Given the description of an element on the screen output the (x, y) to click on. 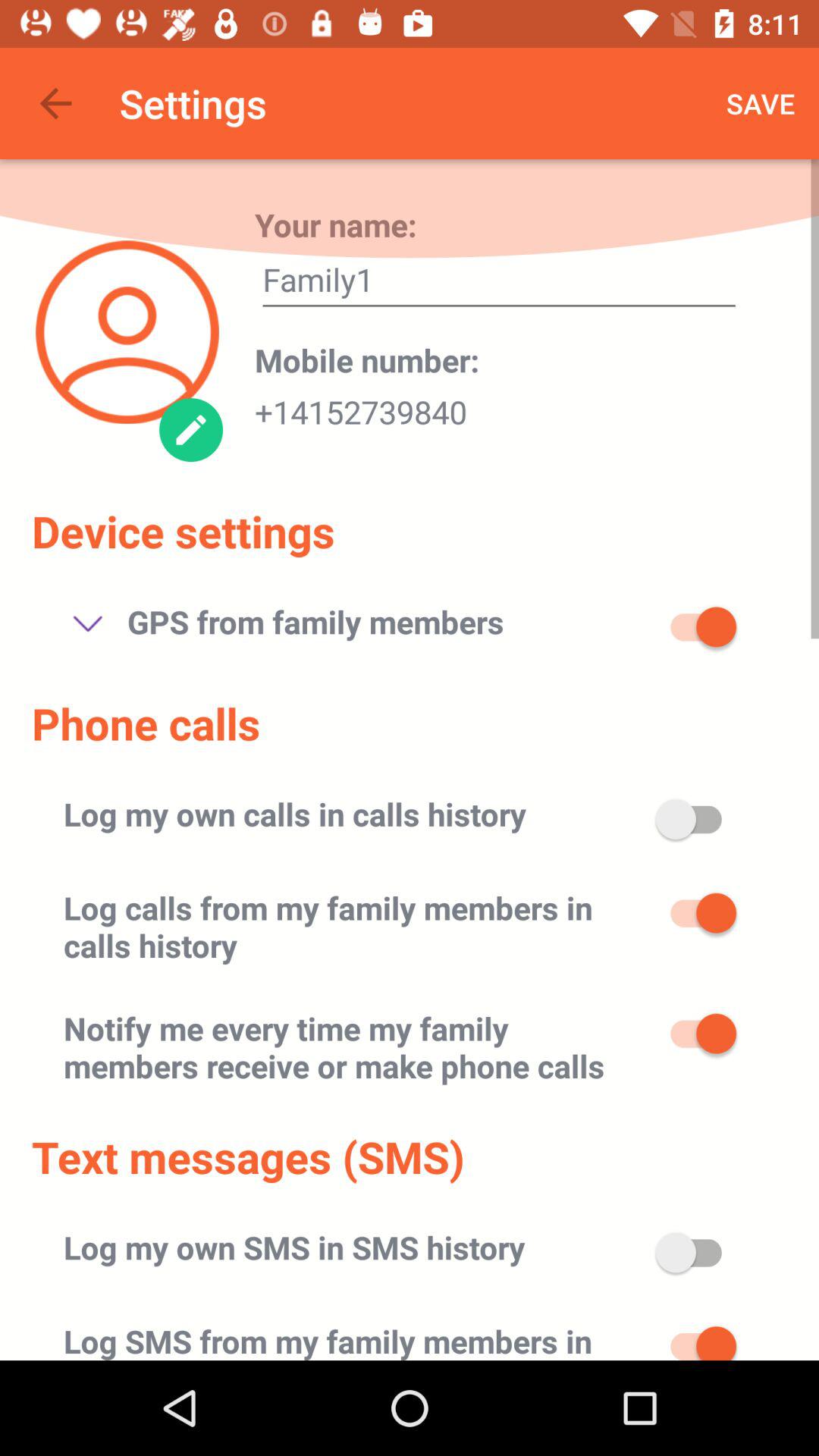
tap item next to settings (55, 103)
